Given the description of an element on the screen output the (x, y) to click on. 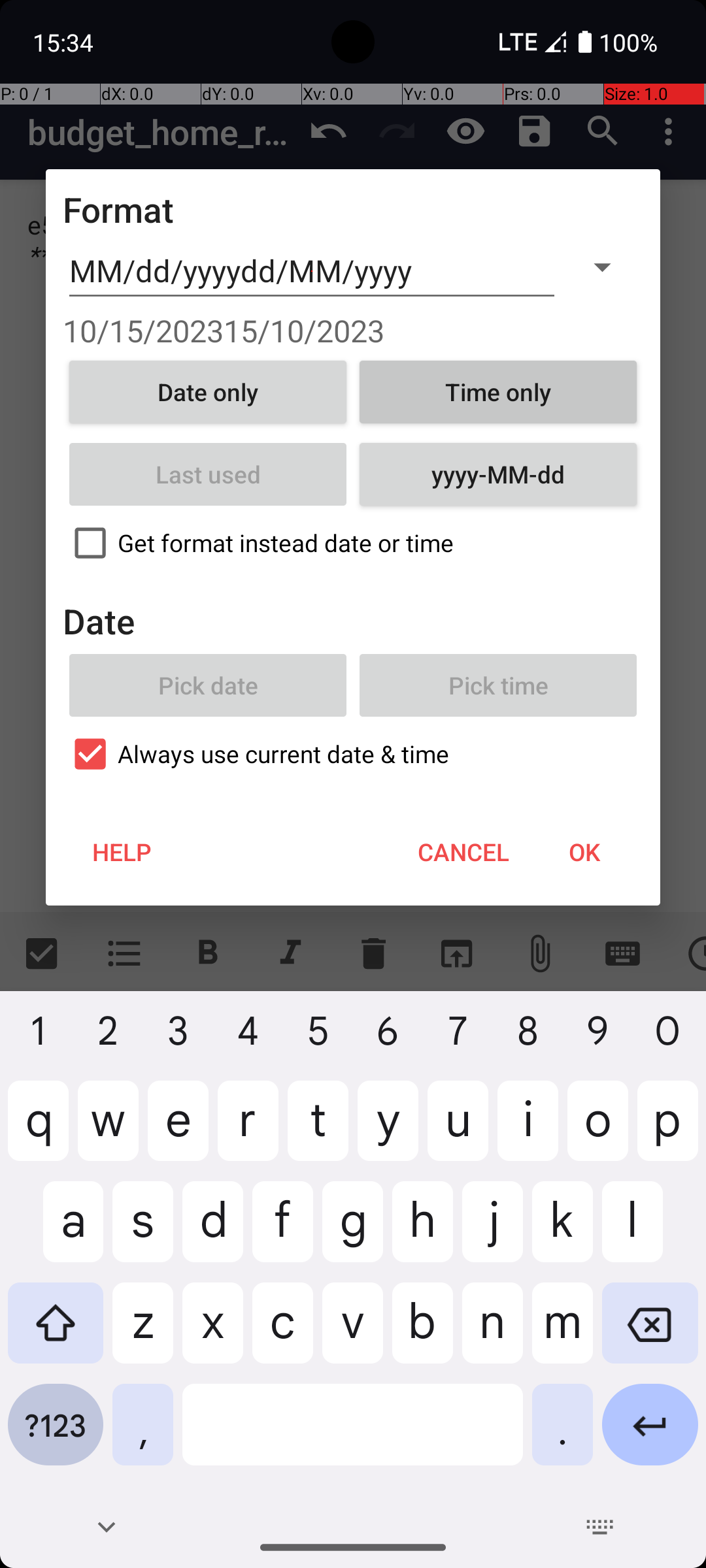
MM/dd/yyyydd/MM/yyyy Element type: android.widget.EditText (311, 270)
10/15/202315/10/2023 Element type: android.widget.TextView (352, 329)
